Given the description of an element on the screen output the (x, y) to click on. 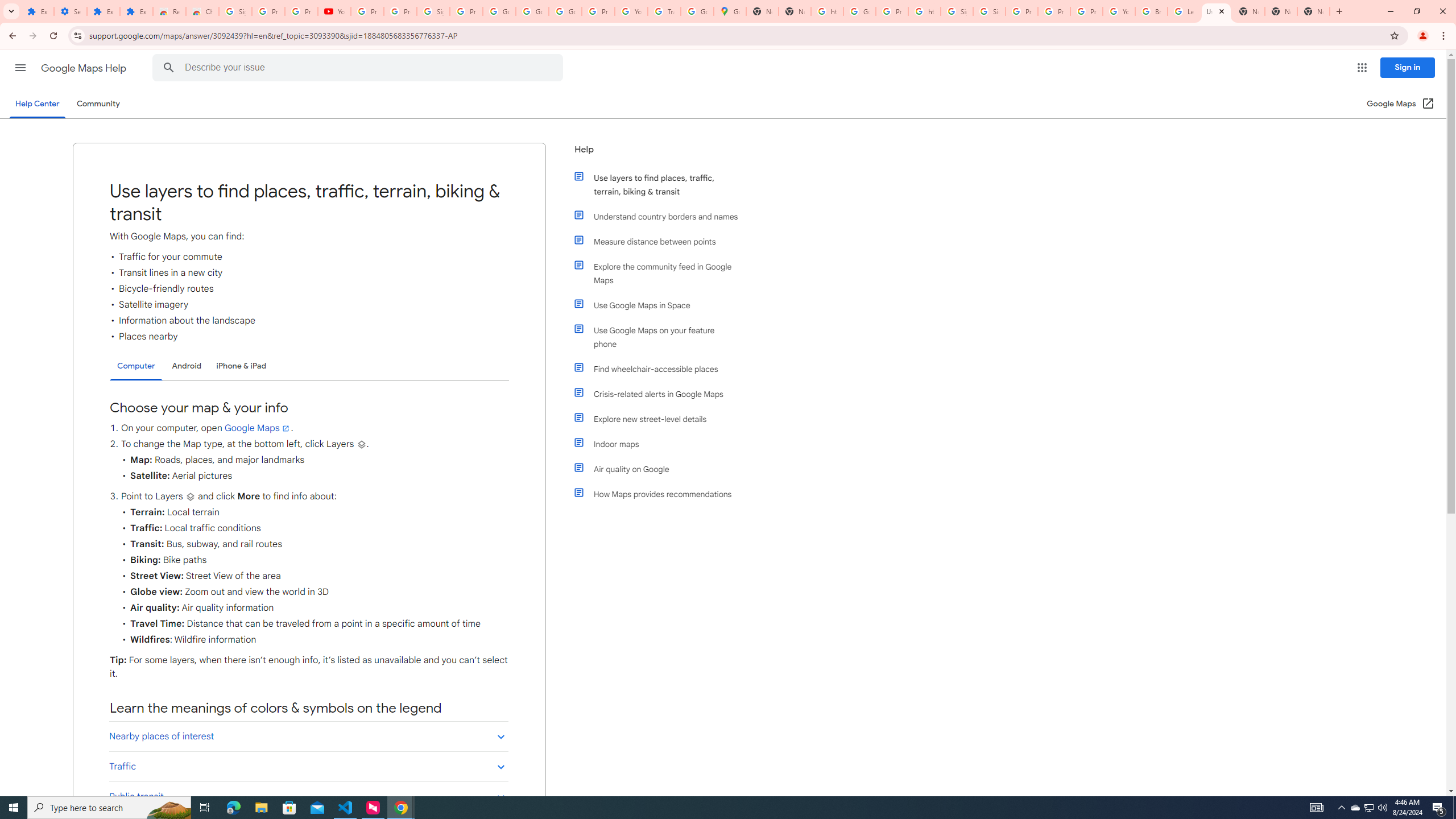
New Tab (1313, 11)
Google Maps Help (84, 68)
Google Account (499, 11)
https://scholar.google.com/ (827, 11)
Sign in - Google Accounts (433, 11)
